Given the description of an element on the screen output the (x, y) to click on. 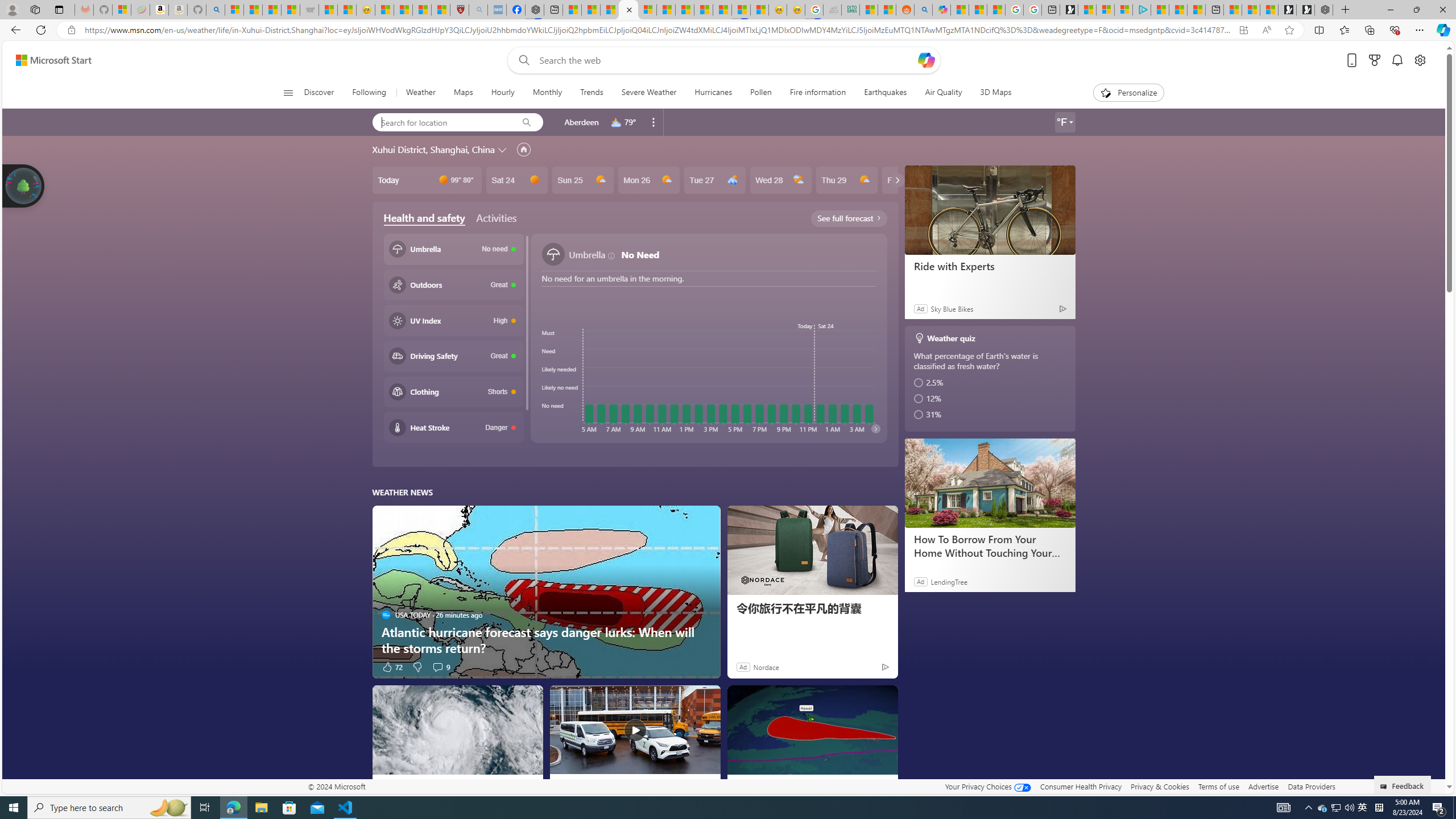
Earthquakes (884, 92)
Set as primary location (522, 149)
Air Quality (943, 92)
Clothing Shorts (453, 391)
These 3 Stocks Pay You More Than 5% to Own Them (1195, 9)
